Given the description of an element on the screen output the (x, y) to click on. 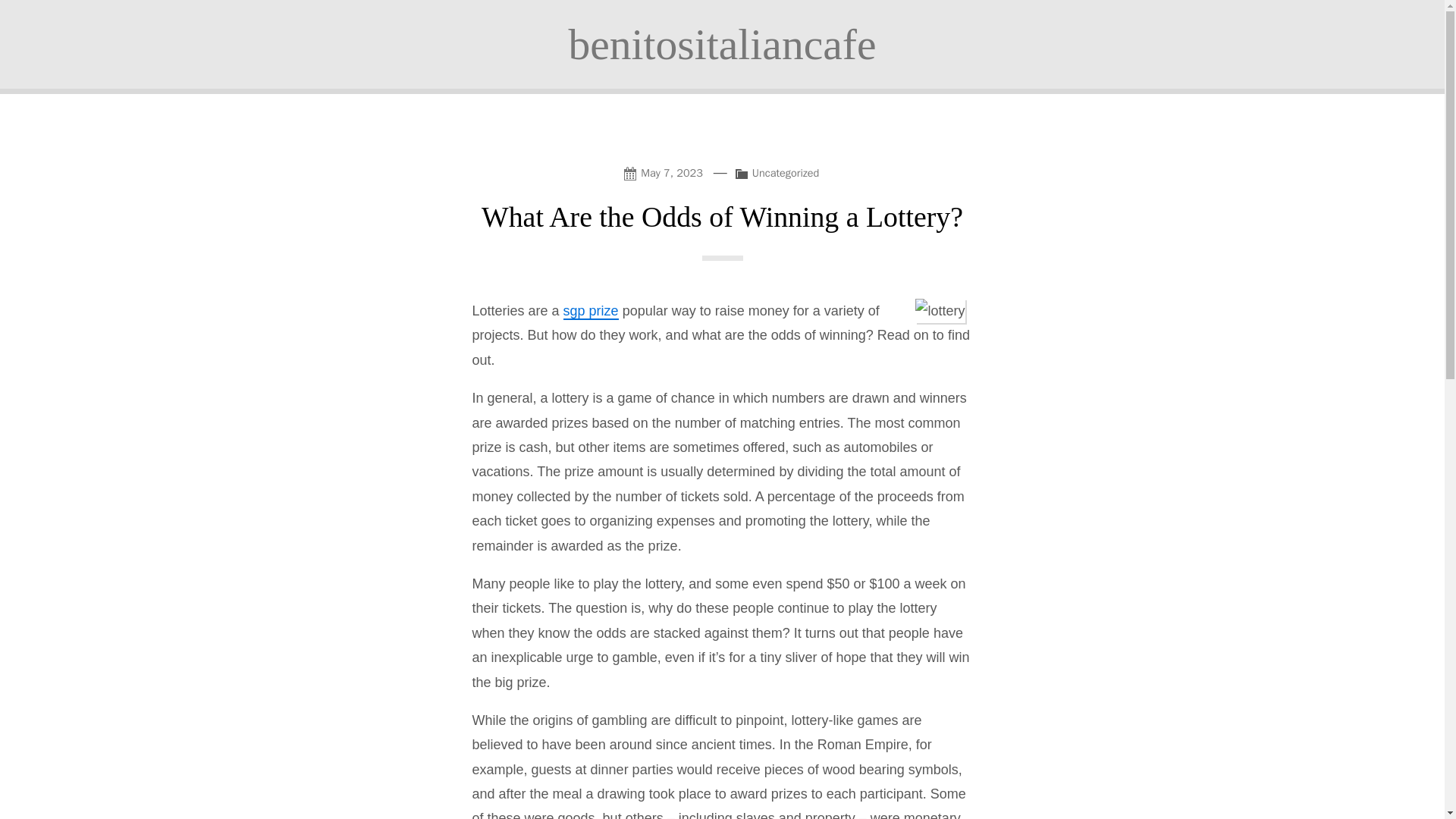
sgp prize (590, 311)
May 7, 2023 (666, 171)
benitositaliancafe (721, 43)
Uncategorized (785, 172)
What Are the Odds of Winning a Lottery? (721, 216)
